Given the description of an element on the screen output the (x, y) to click on. 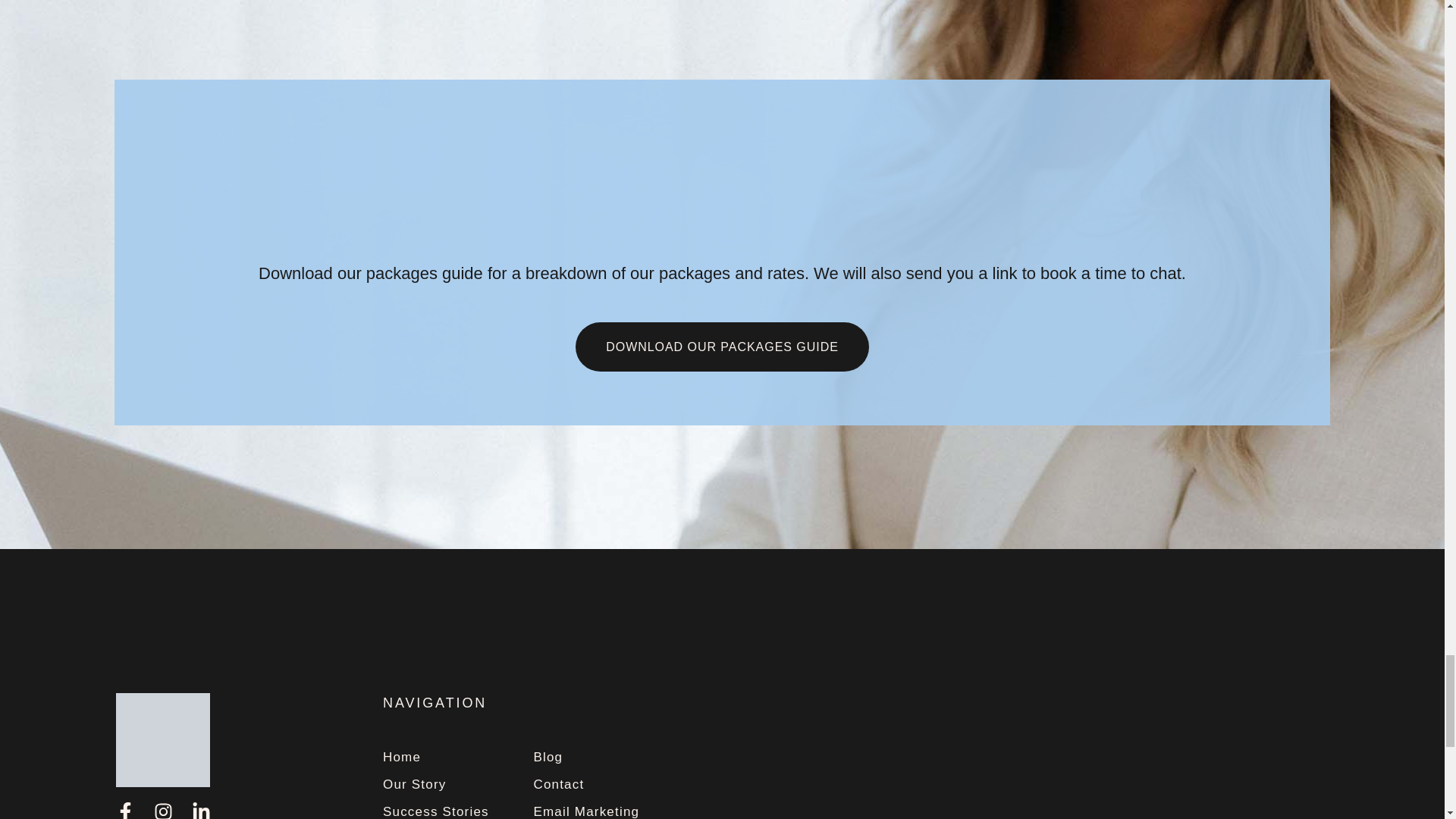
Home (435, 757)
Email Marketing (585, 812)
Blog (585, 757)
Success Stories (435, 812)
Our Story (435, 785)
Contact (585, 785)
DOWNLOAD OUR PACKAGES GUIDE (721, 346)
